Given the description of an element on the screen output the (x, y) to click on. 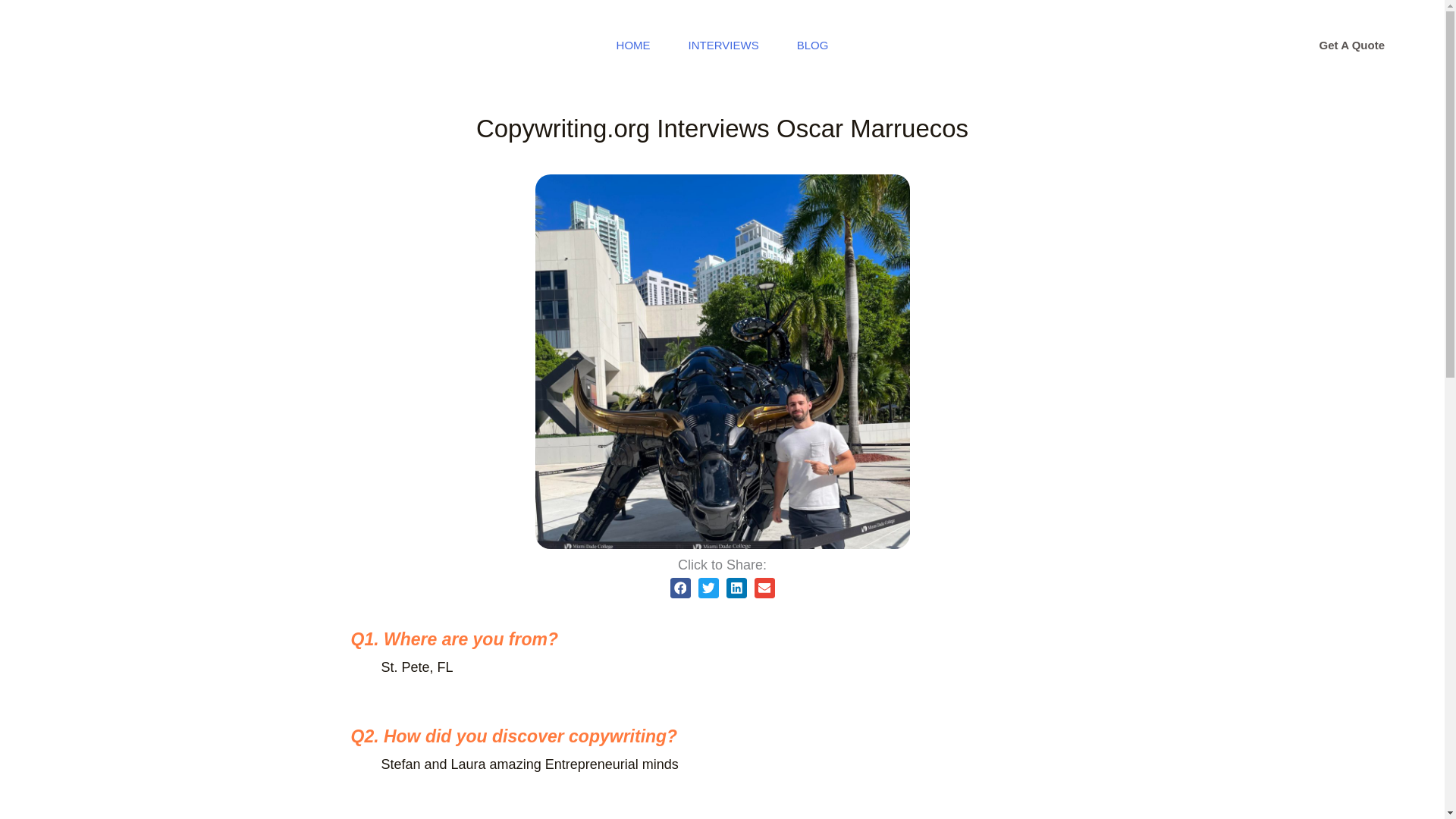
Get A Quote (1352, 45)
INTERVIEWS (723, 45)
